Given the description of an element on the screen output the (x, y) to click on. 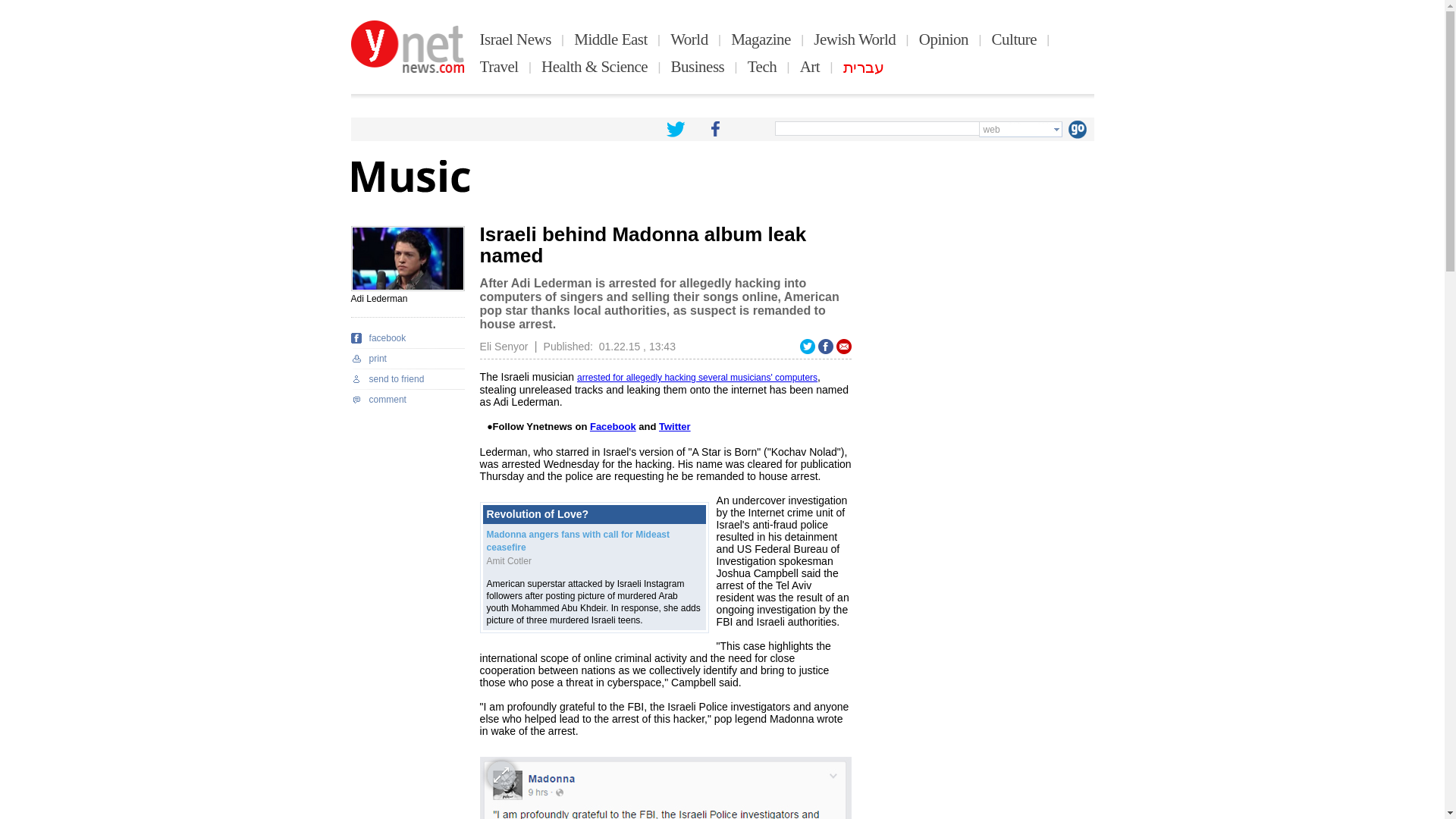
Israel News (515, 39)
Art (810, 66)
Magazine (760, 39)
Ynetnews on Twitter (675, 129)
Ynetnews - news and updates 24 hours (407, 46)
Business (698, 66)
Travel (499, 66)
Middle East (610, 39)
3rd party ad content (980, 320)
3rd party ad content (980, 695)
Jewish World (854, 39)
Culture (1013, 39)
Tech (762, 66)
Opinion (943, 39)
World (688, 39)
